Given the description of an element on the screen output the (x, y) to click on. 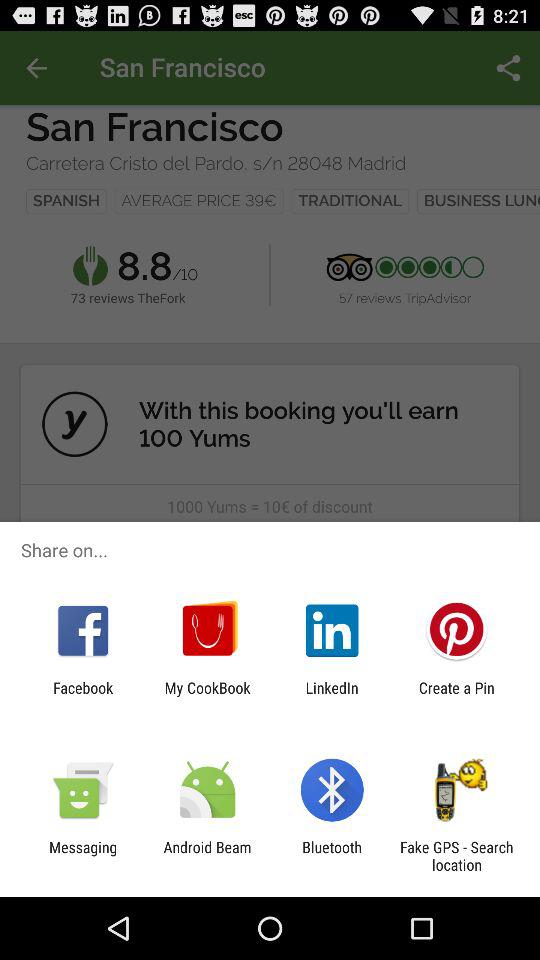
choose the item next to the linkedin icon (207, 696)
